Given the description of an element on the screen output the (x, y) to click on. 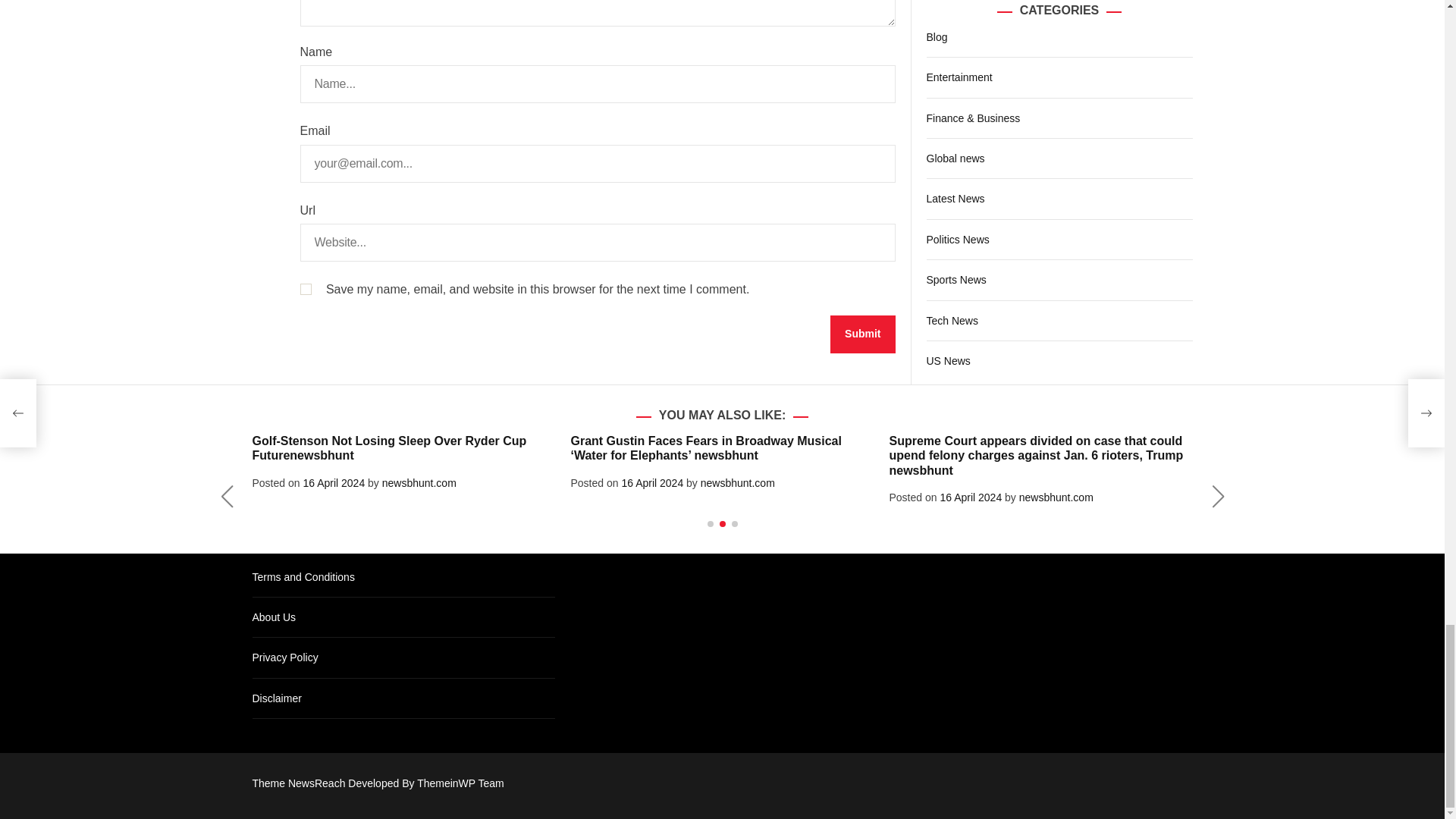
yes (305, 288)
Submit (862, 333)
